Given the description of an element on the screen output the (x, y) to click on. 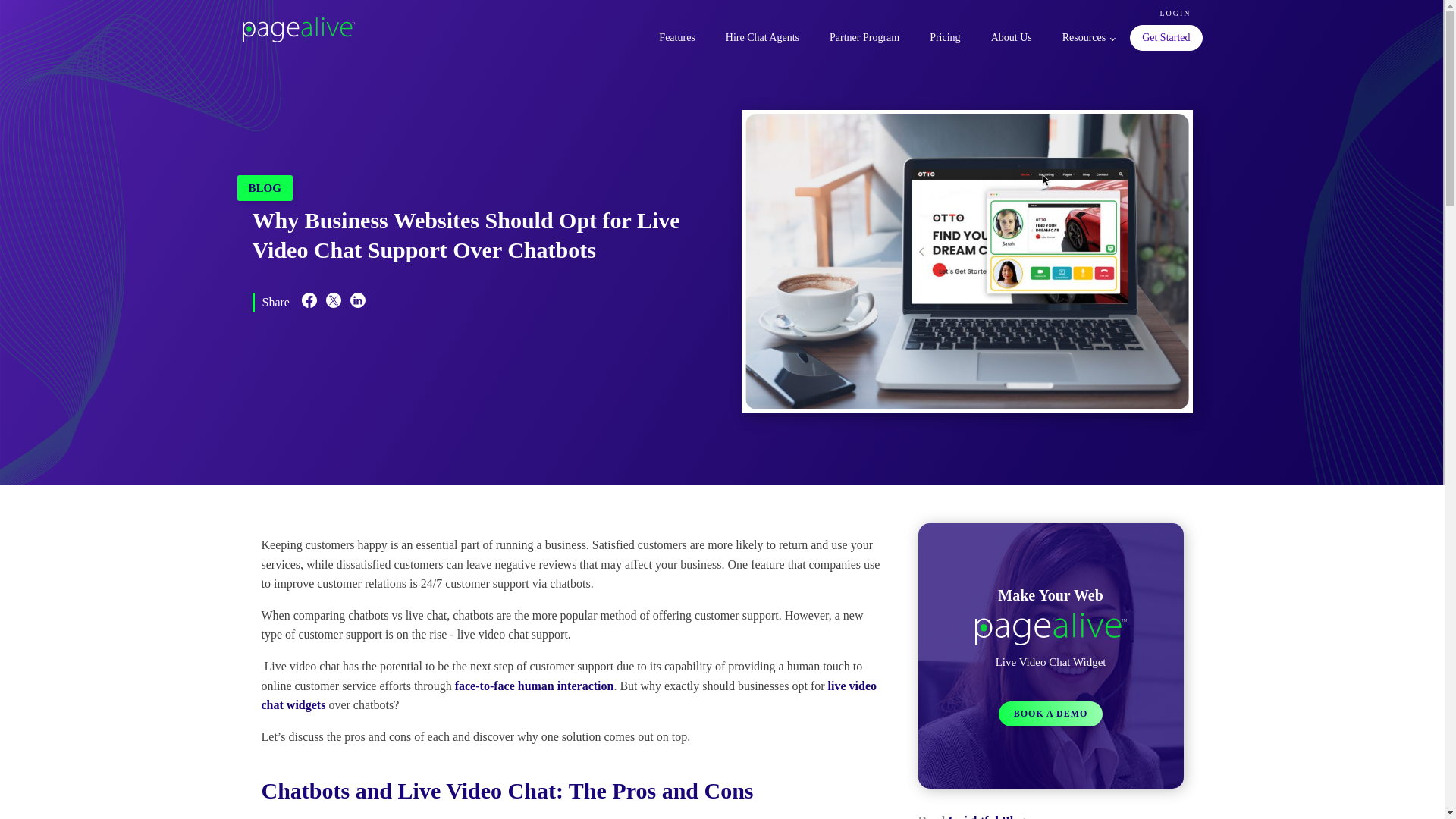
face-to-face human interaction (534, 685)
Share on LinkedIn (357, 303)
Resources (1087, 37)
BOOK A DEMO (1050, 713)
Hire Chat Agents (761, 37)
Partner Program (863, 37)
Get Started (1165, 37)
About Us (1010, 37)
Pricing (944, 37)
LOGIN (1174, 13)
Features (676, 37)
Share on Facebook (309, 303)
live video chat widgets (568, 695)
Share on Twitter (333, 303)
